Given the description of an element on the screen output the (x, y) to click on. 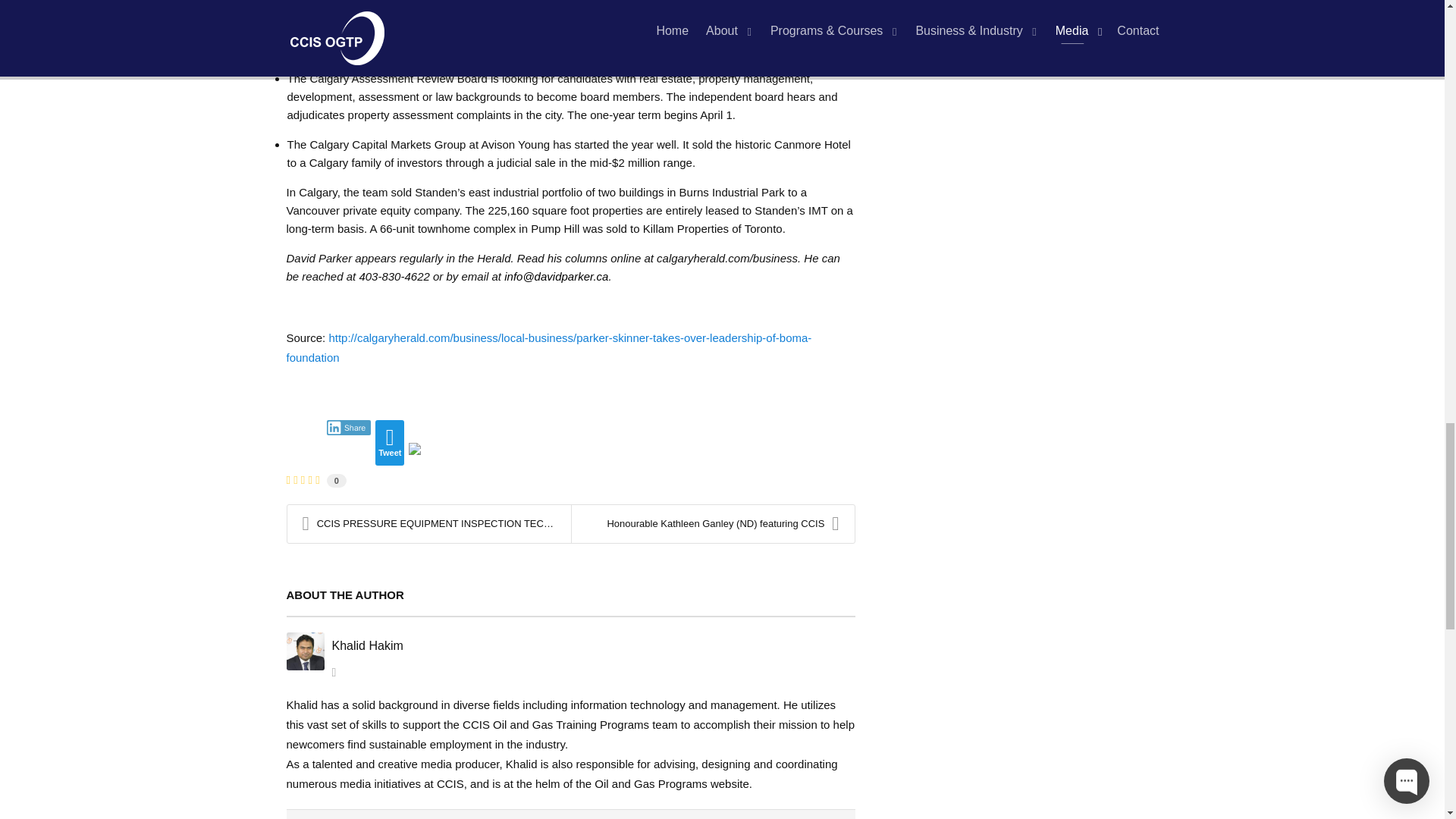
Share (348, 427)
0 votes (336, 480)
0 (336, 479)
